Given the description of an element on the screen output the (x, y) to click on. 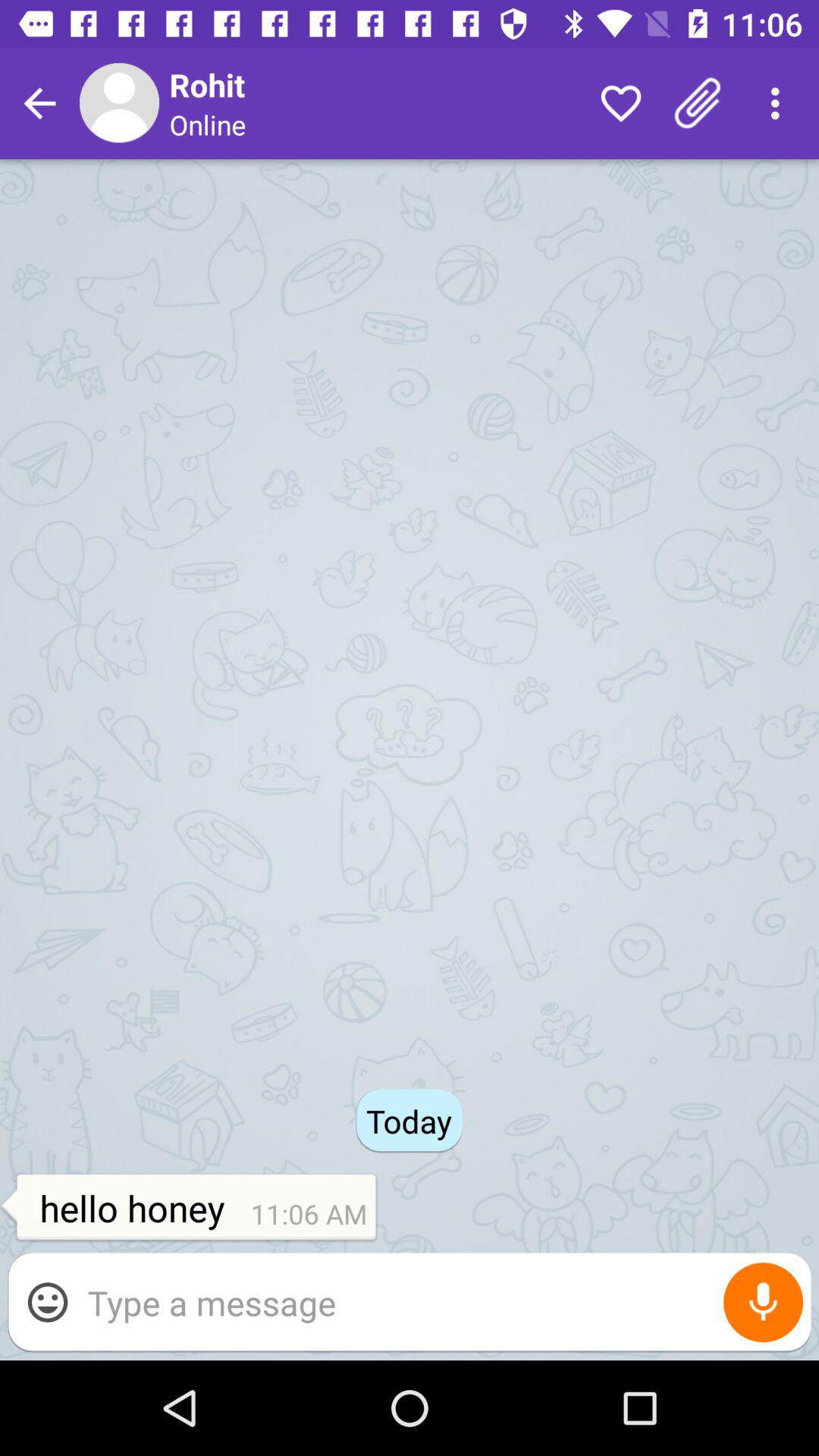
go back (39, 103)
